Given the description of an element on the screen output the (x, y) to click on. 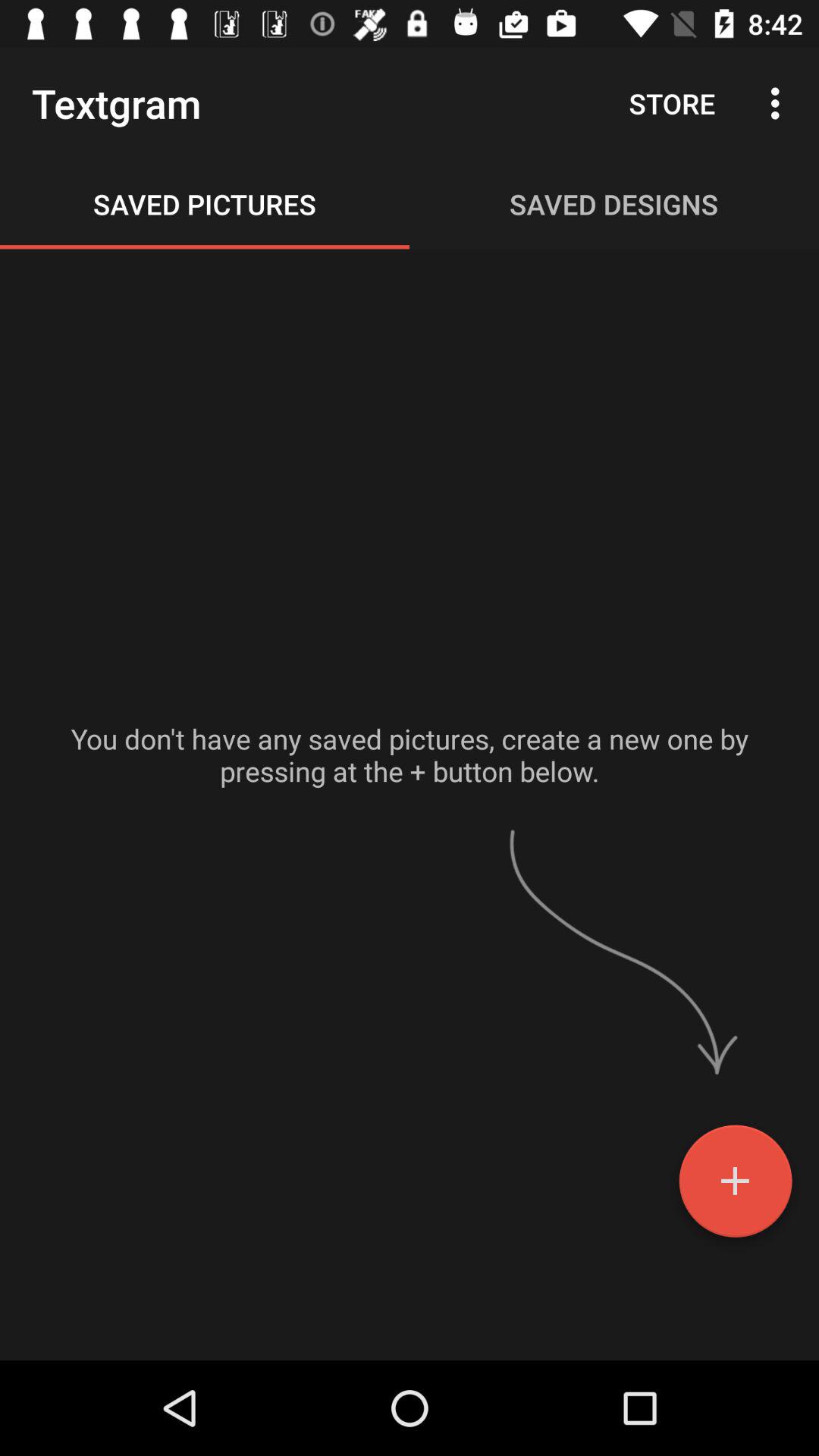
click the icon next to store icon (779, 103)
